Given the description of an element on the screen output the (x, y) to click on. 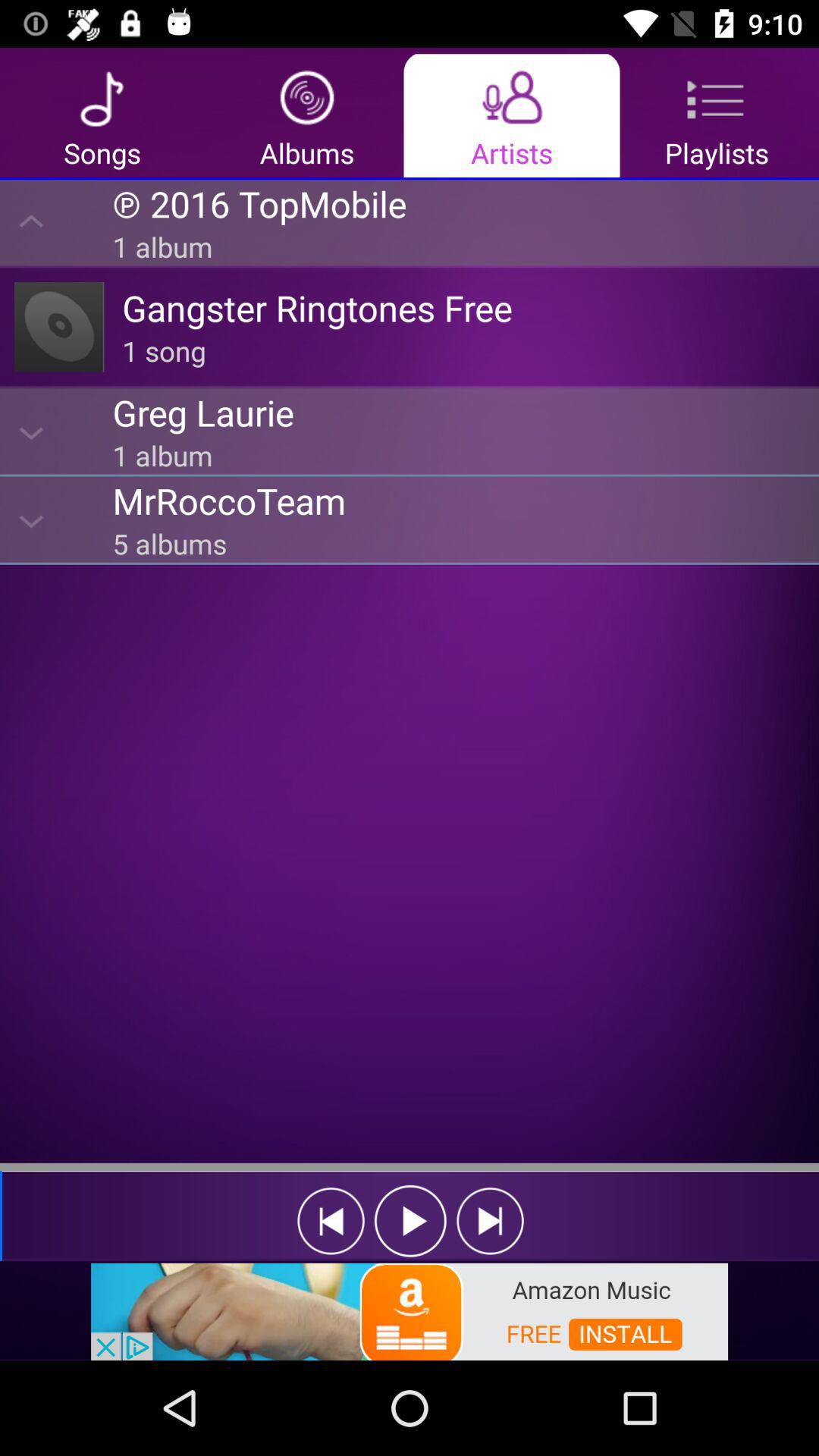
go back to previous song (330, 1220)
